Given the description of an element on the screen output the (x, y) to click on. 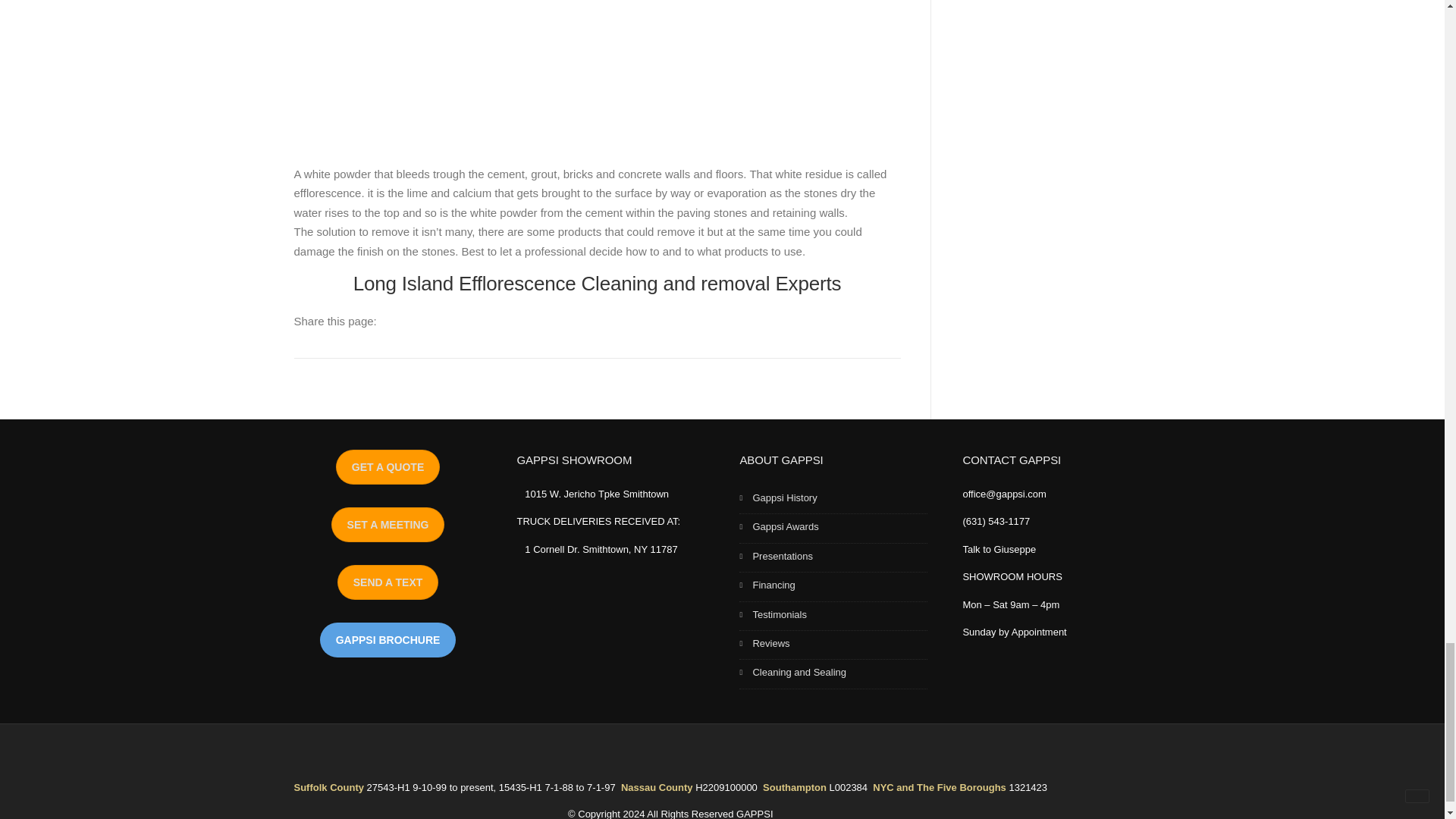
Contact Us Form Page (387, 466)
Long Island Efflorescence Cleaning and removal Experts (597, 282)
